Given the description of an element on the screen output the (x, y) to click on. 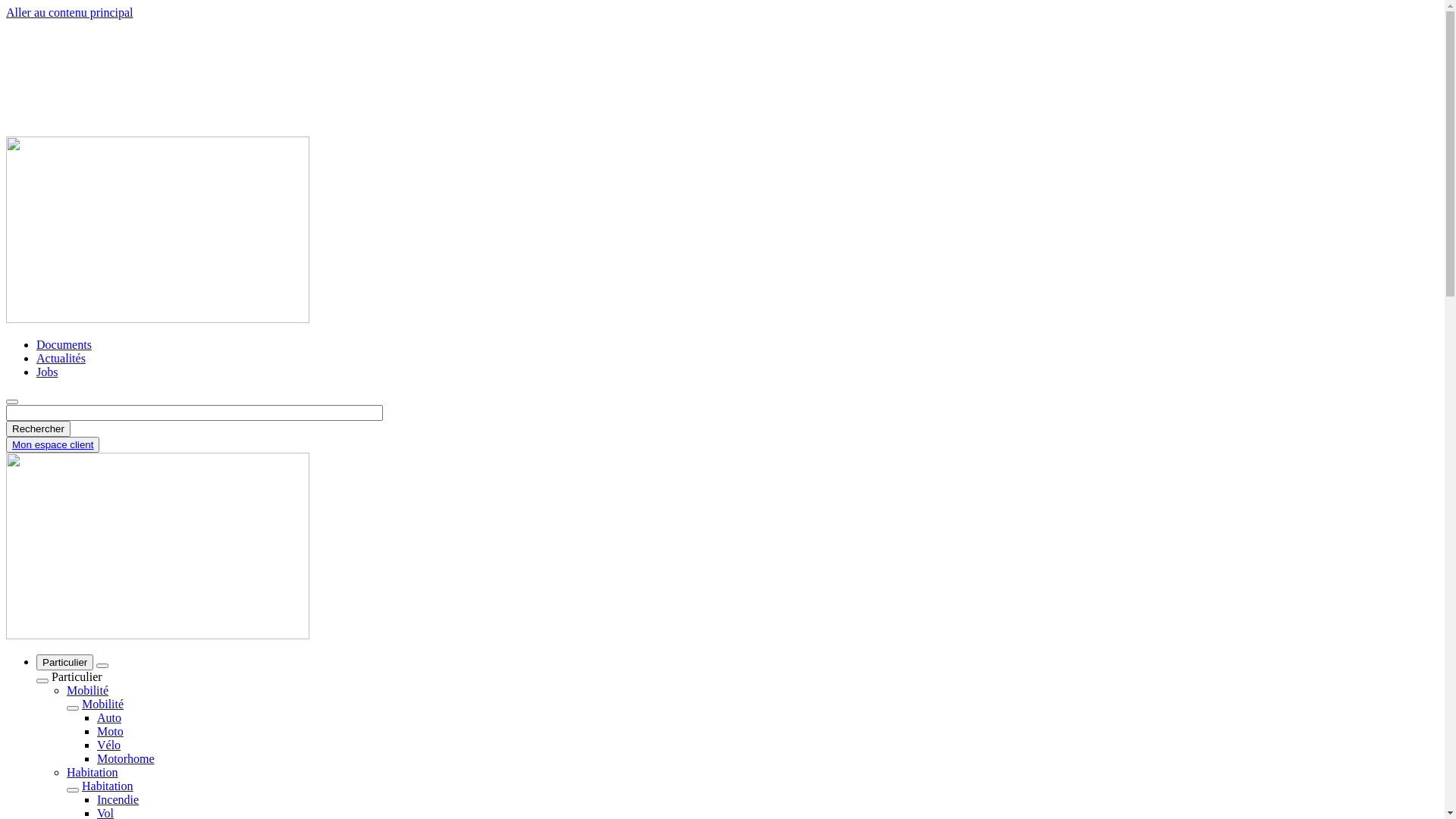
Rechercher Element type: text (38, 428)
Mon espace client Element type: text (52, 444)
Particulier Element type: text (64, 662)
Incendie Element type: text (117, 799)
Habitation Element type: text (92, 771)
Motorhome Element type: text (125, 758)
Aller au contenu principal Element type: text (69, 12)
Documents Element type: text (63, 344)
Habitation Element type: text (107, 785)
Jobs Element type: text (46, 371)
Moto Element type: text (110, 730)
Auto Element type: text (109, 717)
Mon espace client Element type: text (52, 444)
